Given the description of an element on the screen output the (x, y) to click on. 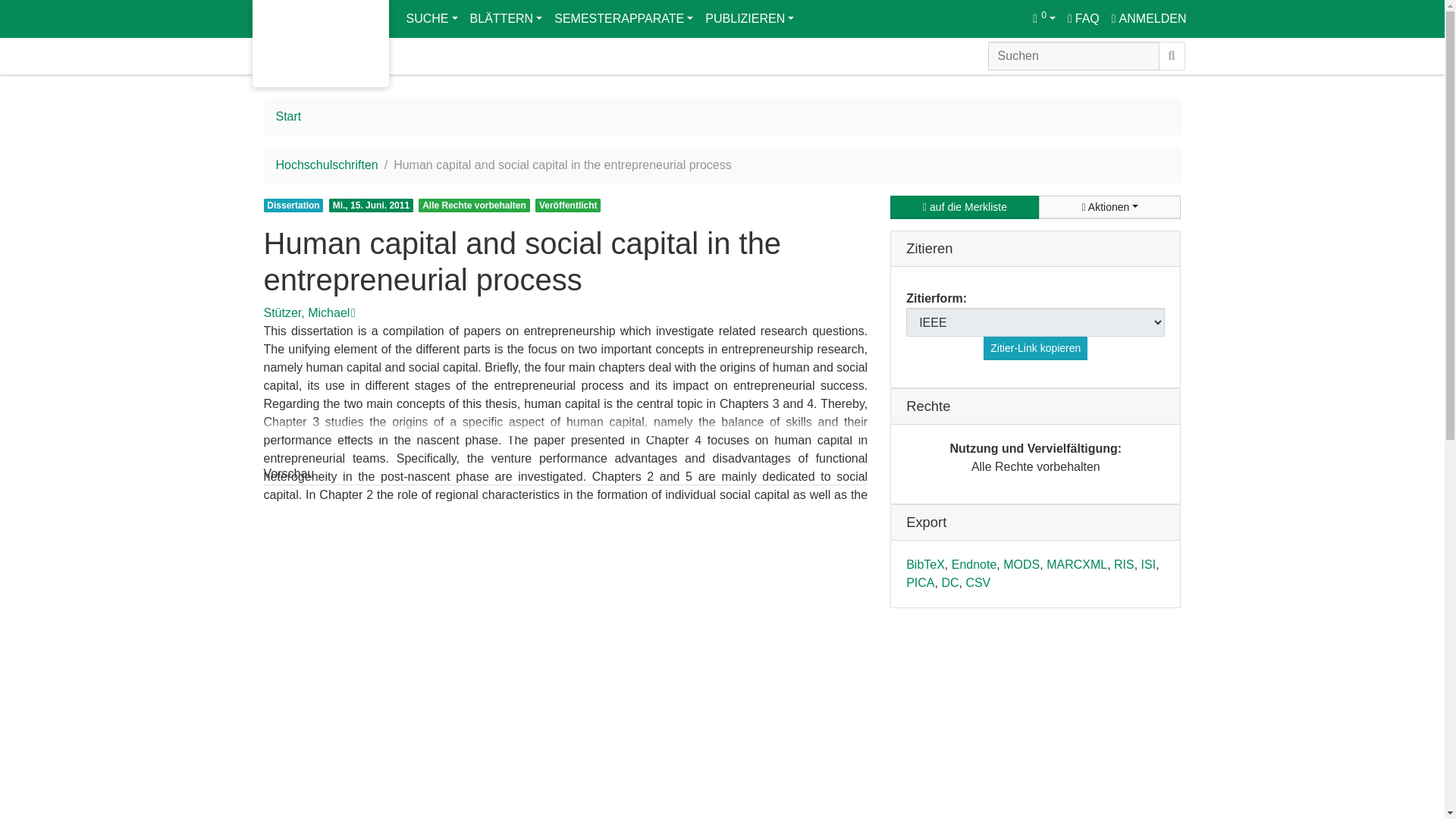
ANMELDEN (1148, 18)
PUBLIZIEREN (748, 18)
Alle Rechte vorbehalten (474, 205)
Hochschulschriften (327, 164)
Dissertation (293, 205)
FAQ (1083, 18)
SEMESTERAPPARATE (623, 18)
Publication date (374, 204)
Start (288, 115)
Publikationsstatus (567, 205)
0 (1043, 18)
Merkliste (1043, 18)
Mi., 15. Juni. 2011 (371, 205)
SUCHE (432, 18)
